Given the description of an element on the screen output the (x, y) to click on. 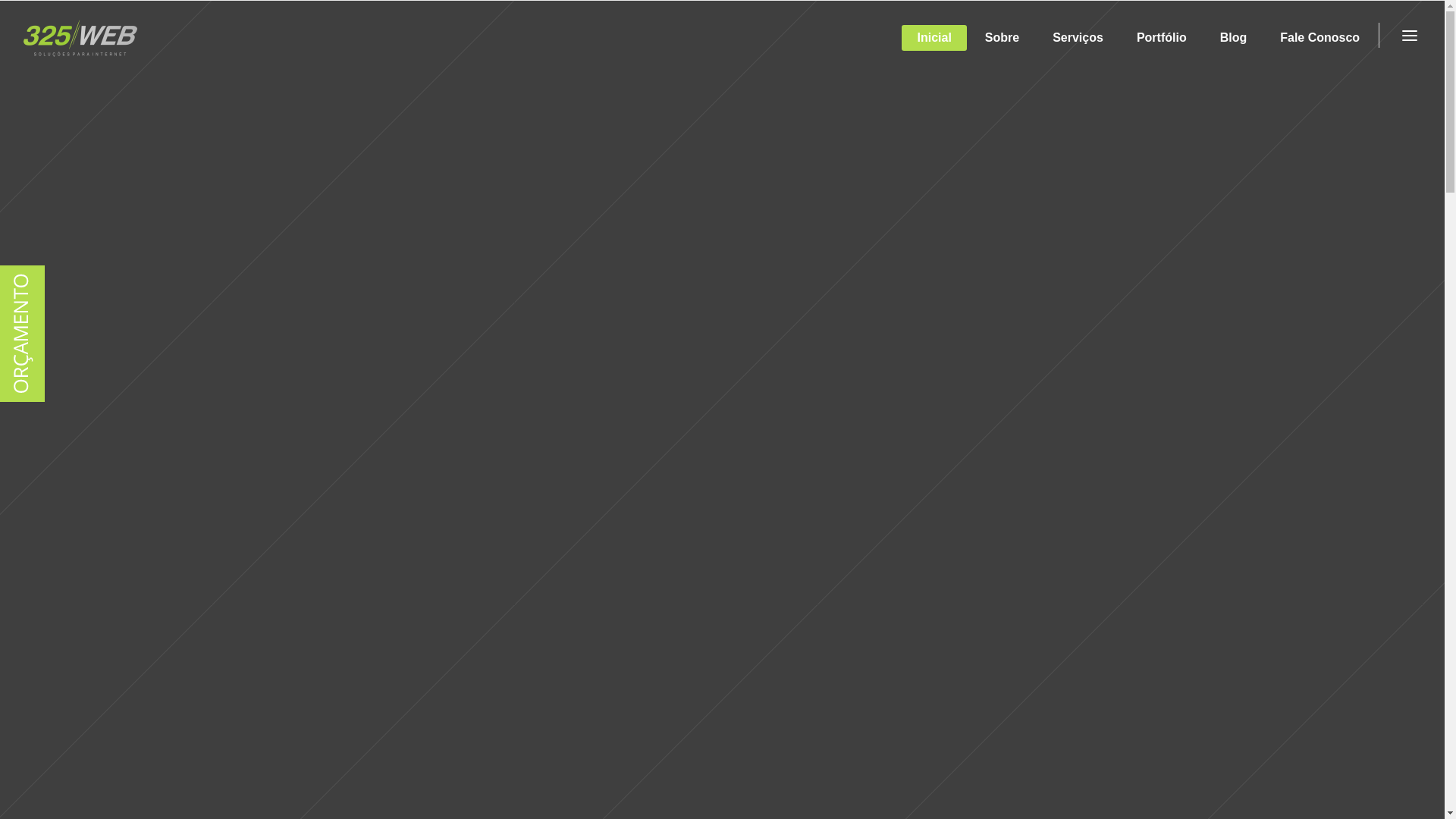
Fale Conosco Element type: text (1319, 37)
Blog Element type: text (1233, 37)
Sobre Element type: text (1001, 37)
Inicial Element type: text (933, 37)
